Given the description of an element on the screen output the (x, y) to click on. 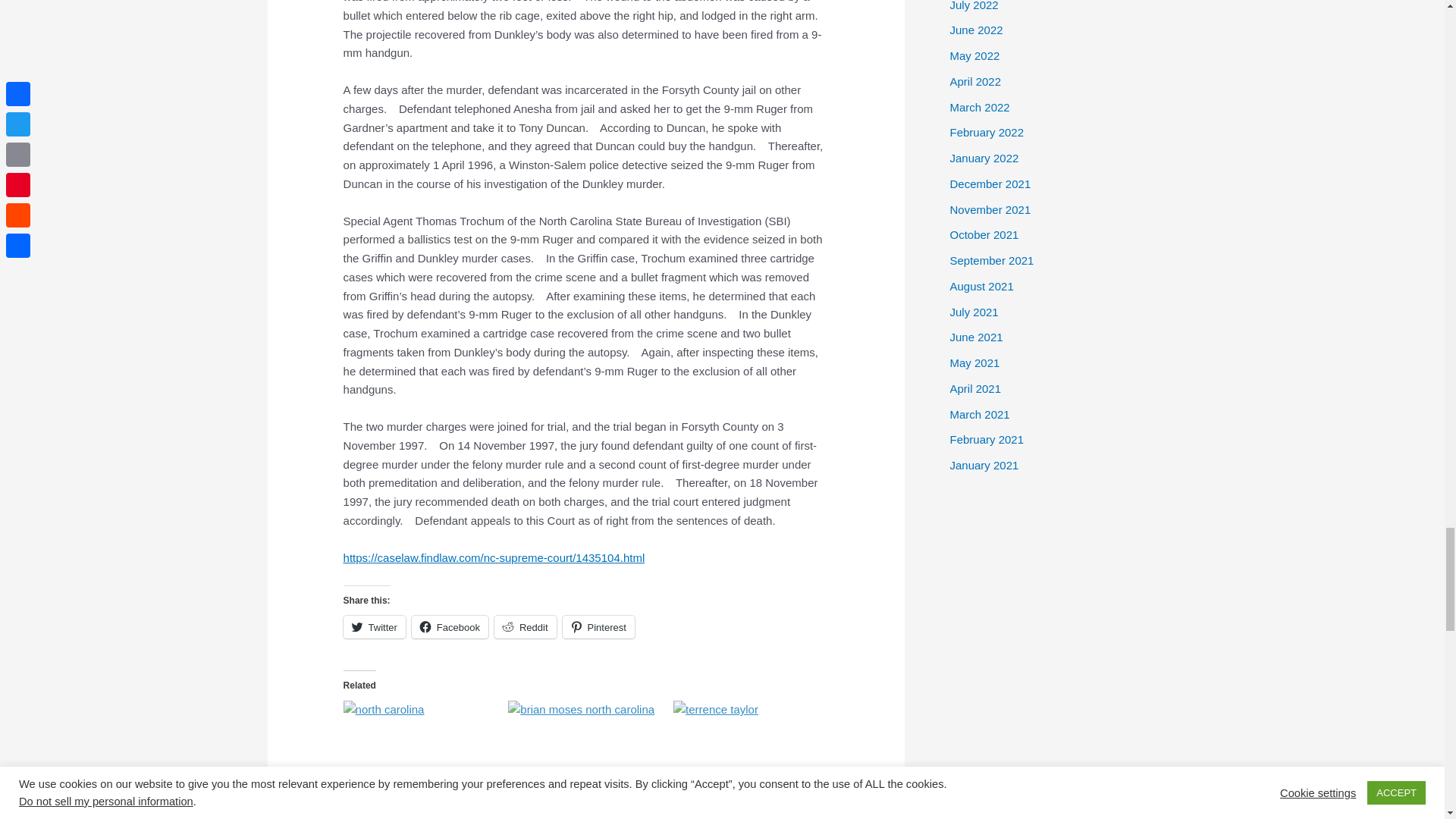
Click to share on Twitter (374, 626)
North Carolina Death Row Inmate List (418, 743)
Click to share on Reddit (525, 626)
Click to share on Facebook (449, 626)
Click to share on Pinterest (598, 626)
